Given the description of an element on the screen output the (x, y) to click on. 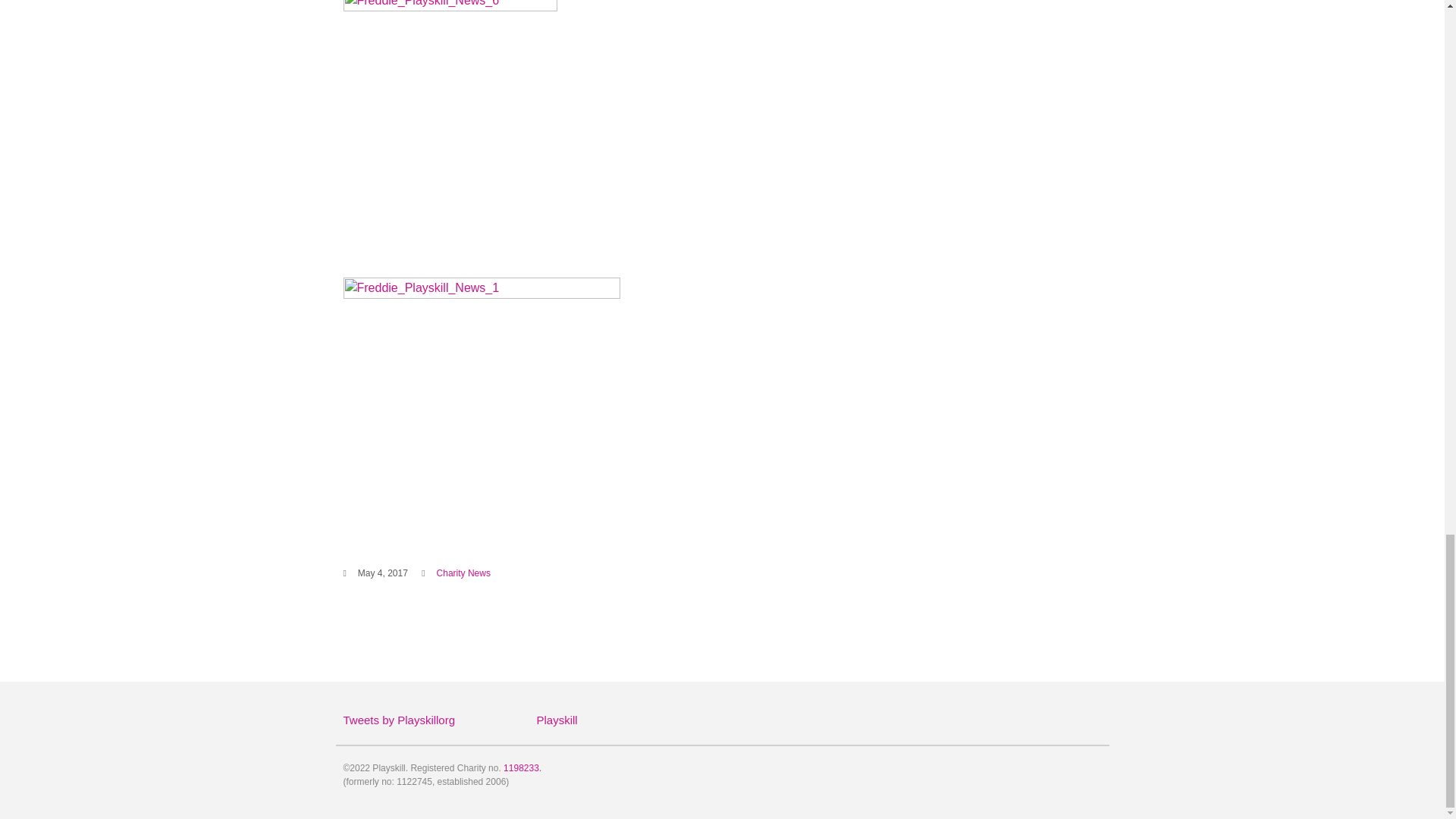
Tweets by Playskillorg (398, 719)
Charity News (463, 573)
View all posts in Charity News (463, 573)
